Given the description of an element on the screen output the (x, y) to click on. 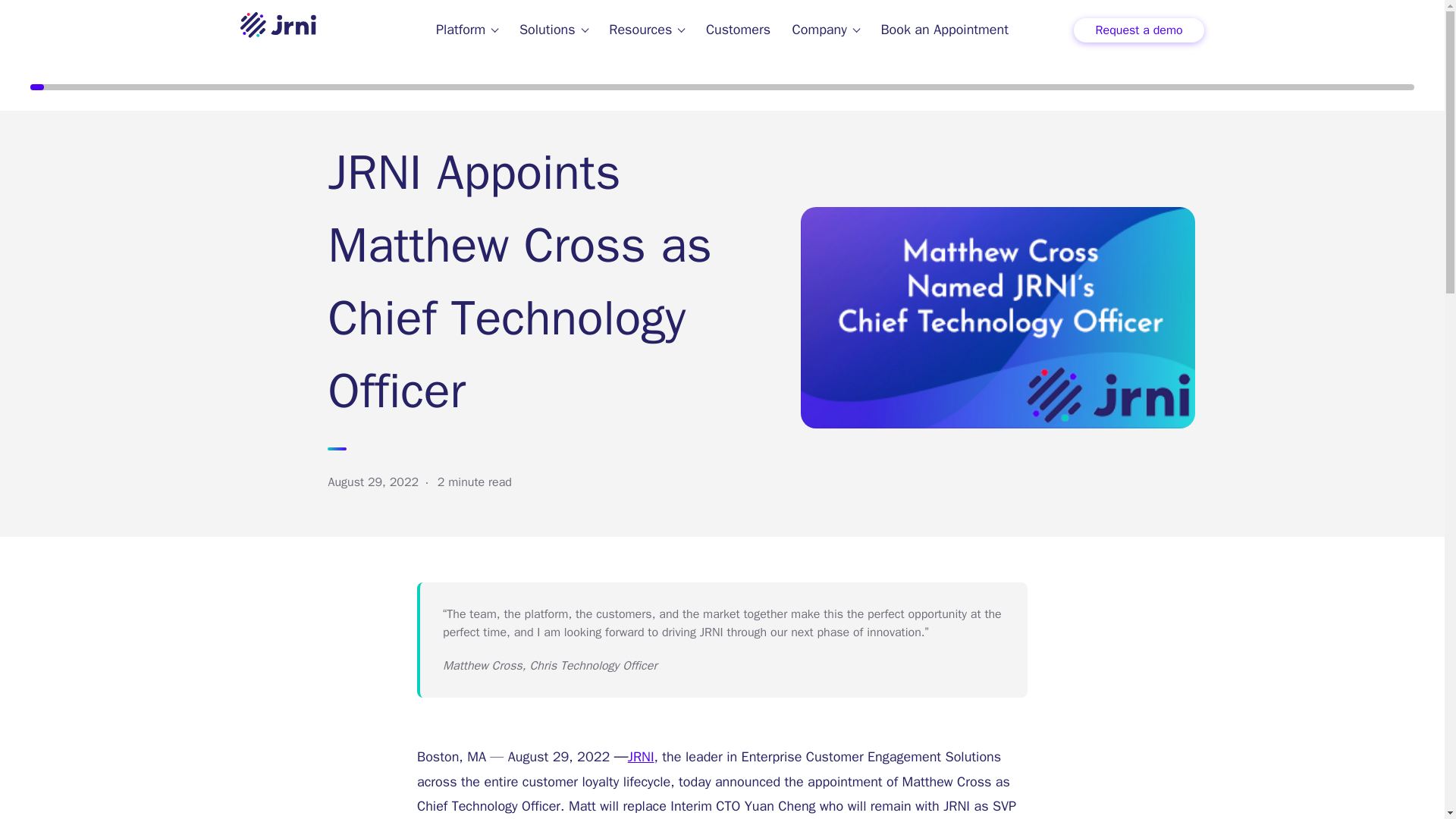
Platform (466, 29)
Solutions (553, 29)
Customers (738, 29)
Resources (646, 29)
Company (825, 29)
